Given the description of an element on the screen output the (x, y) to click on. 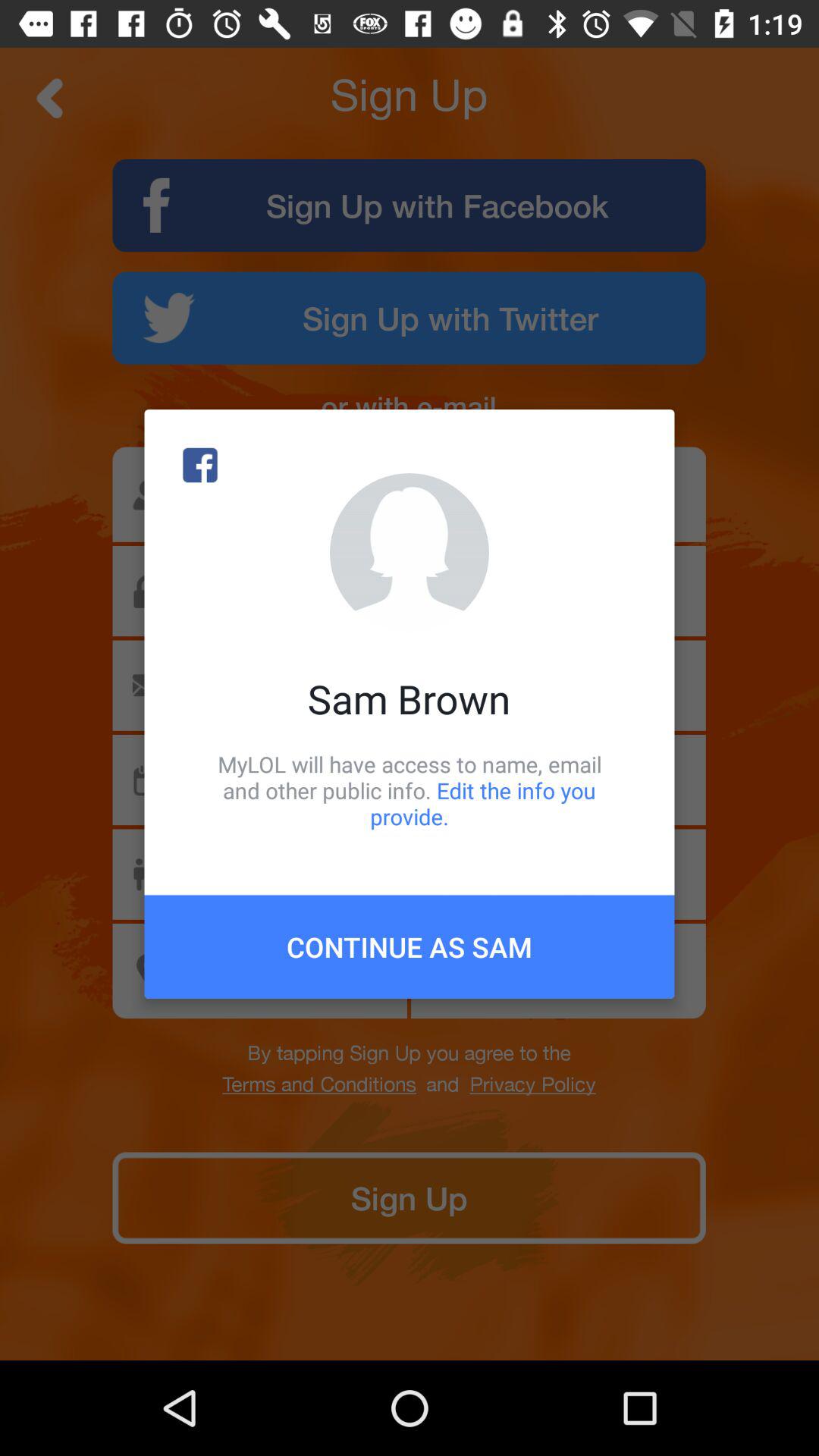
press item below sam brown icon (409, 790)
